Given the description of an element on the screen output the (x, y) to click on. 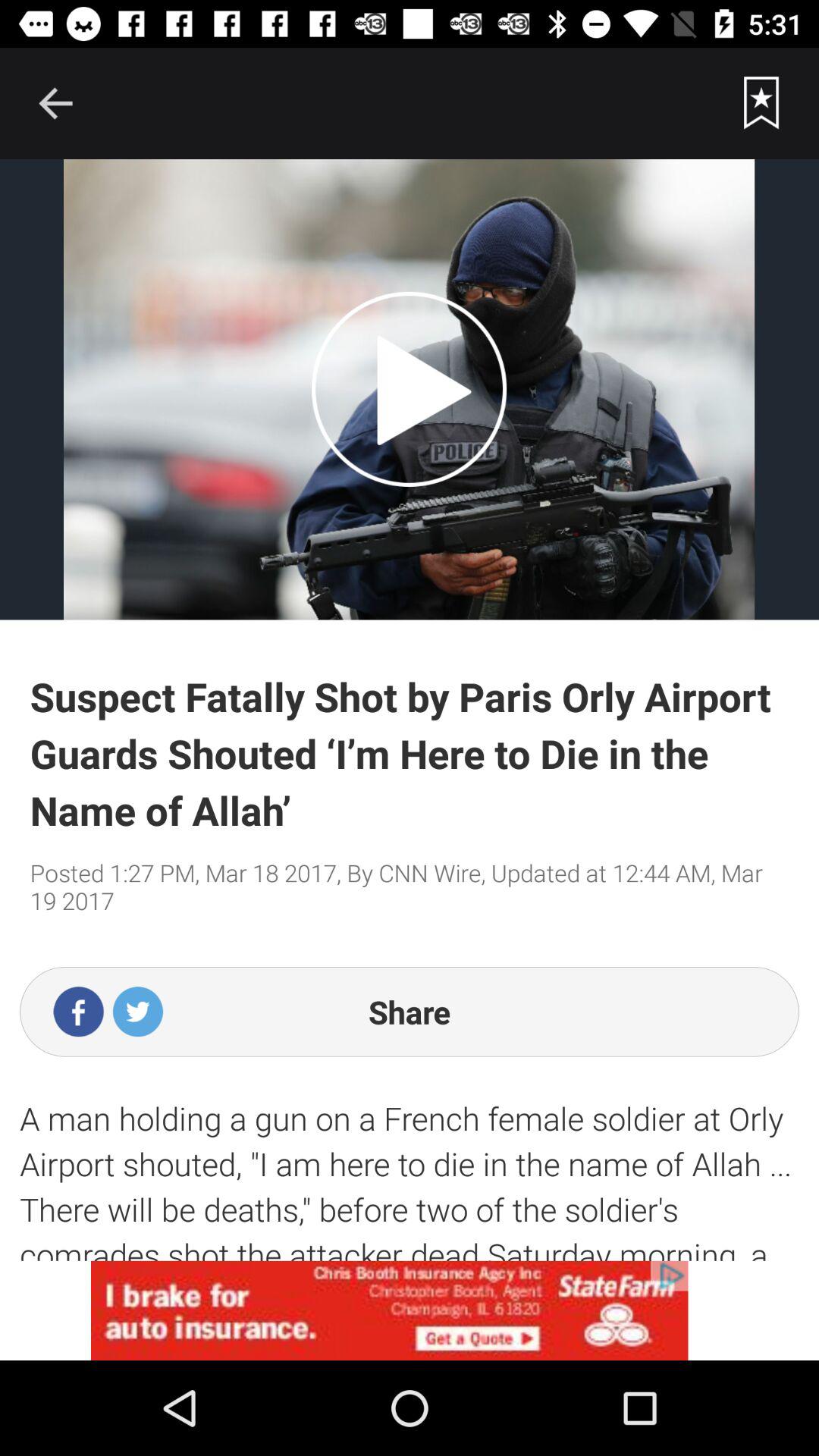
advertisement (409, 1310)
